Given the description of an element on the screen output the (x, y) to click on. 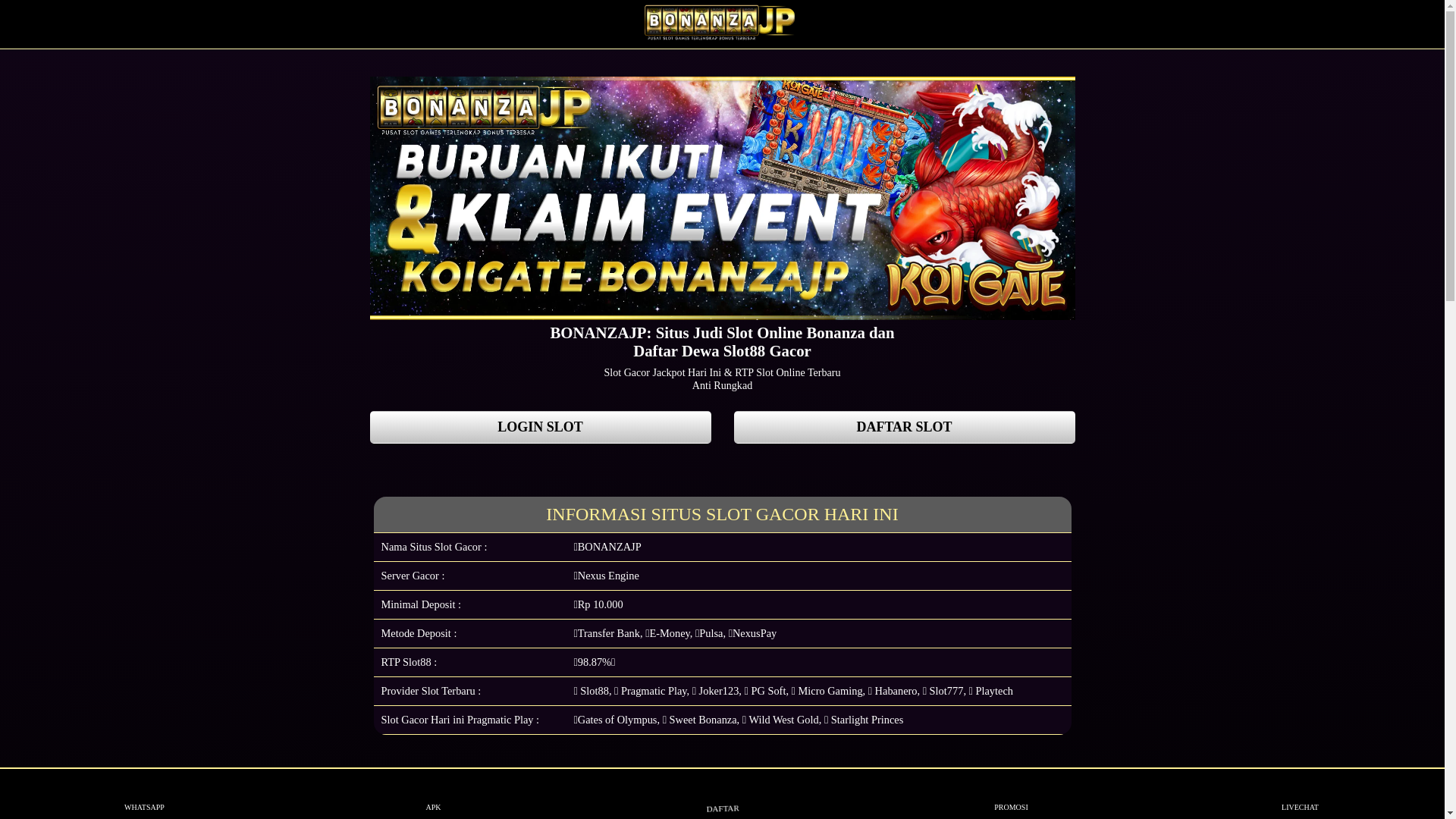
LOGIN SLOT Element type: text (540, 426)
DAFTAR Element type: text (718, 790)
PROMOSI Element type: text (1010, 793)
DAFTAR SLOT Element type: text (904, 426)
DAFTAR SLOT Element type: text (904, 427)
LIVECHAT Element type: text (1299, 793)
APK Element type: text (432, 793)
WHATSAPP Element type: text (144, 793)
LOGIN SLOT Element type: text (540, 427)
